Given the description of an element on the screen output the (x, y) to click on. 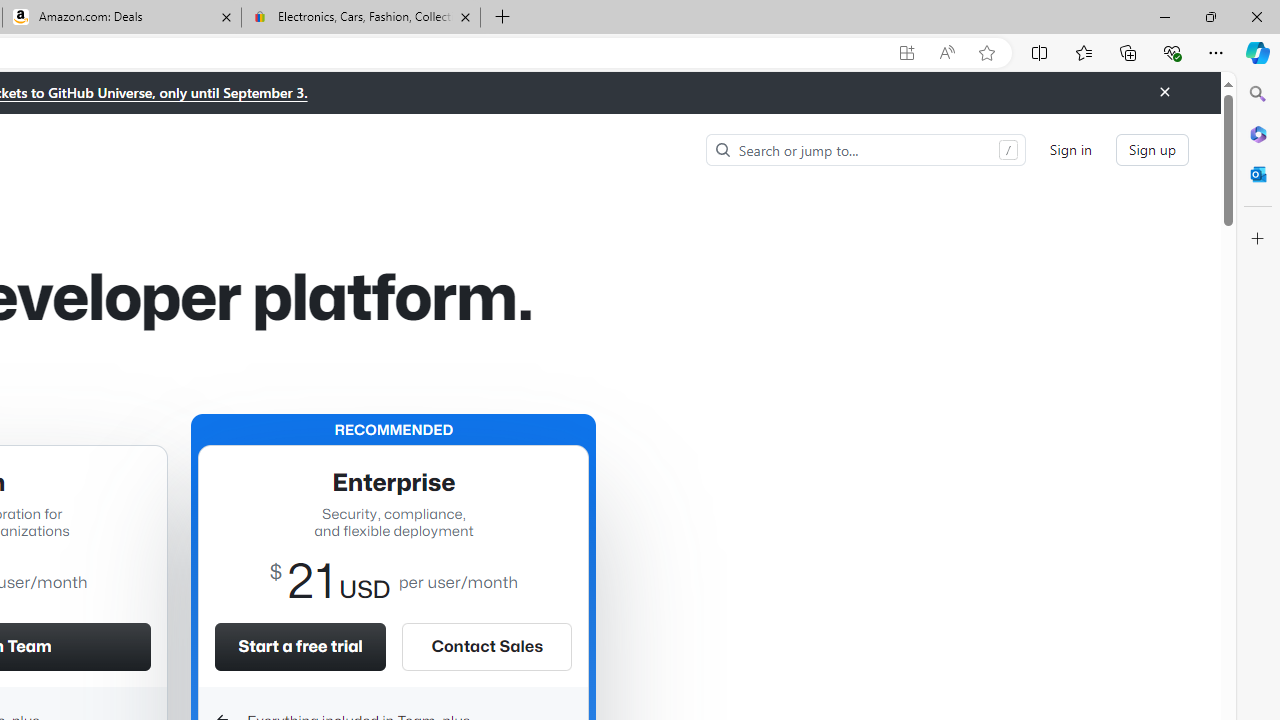
Contact Sales (486, 646)
